Given the description of an element on the screen output the (x, y) to click on. 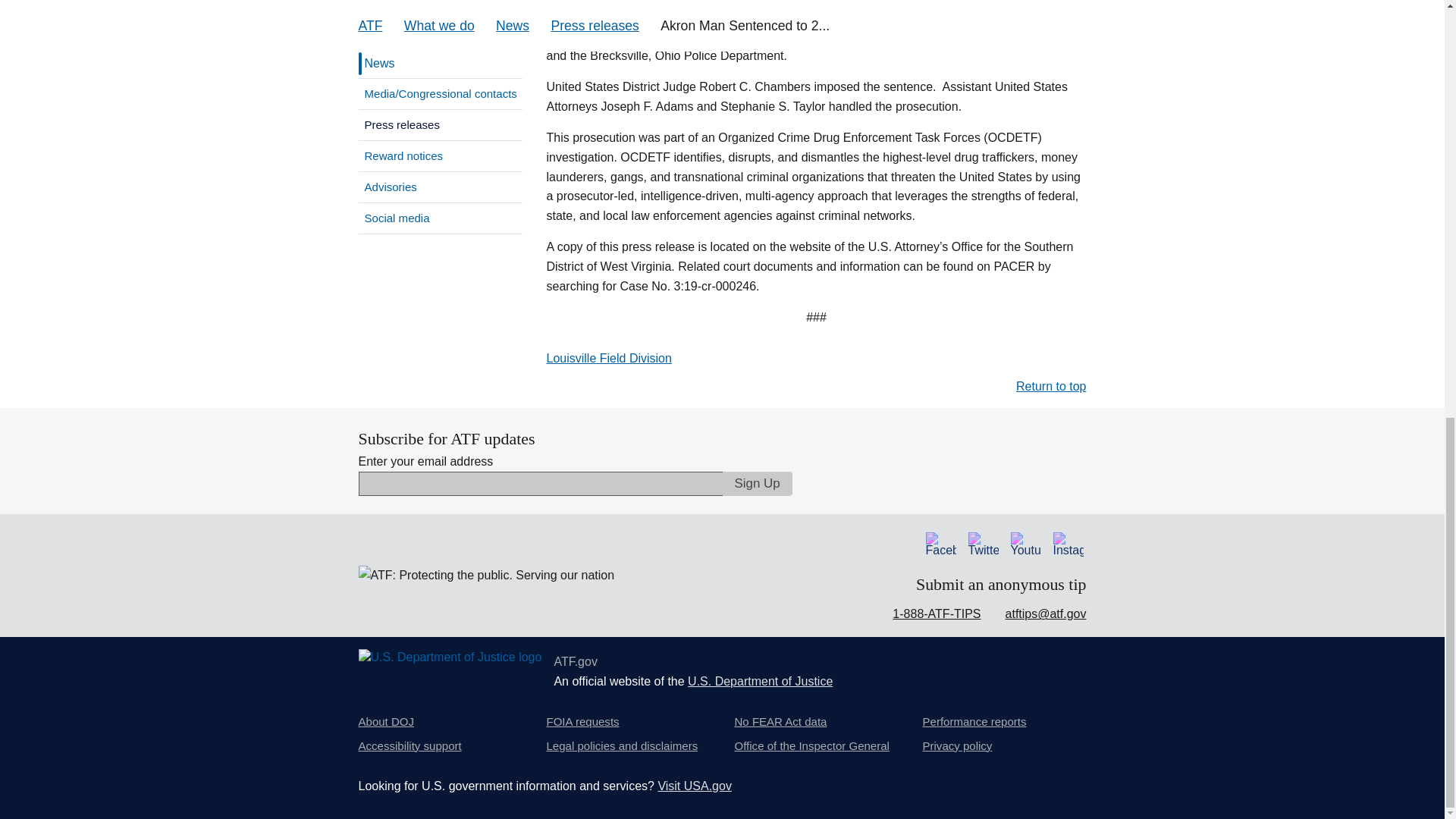
News (377, 63)
Rulings (439, 33)
Federal Register (439, 8)
